Given the description of an element on the screen output the (x, y) to click on. 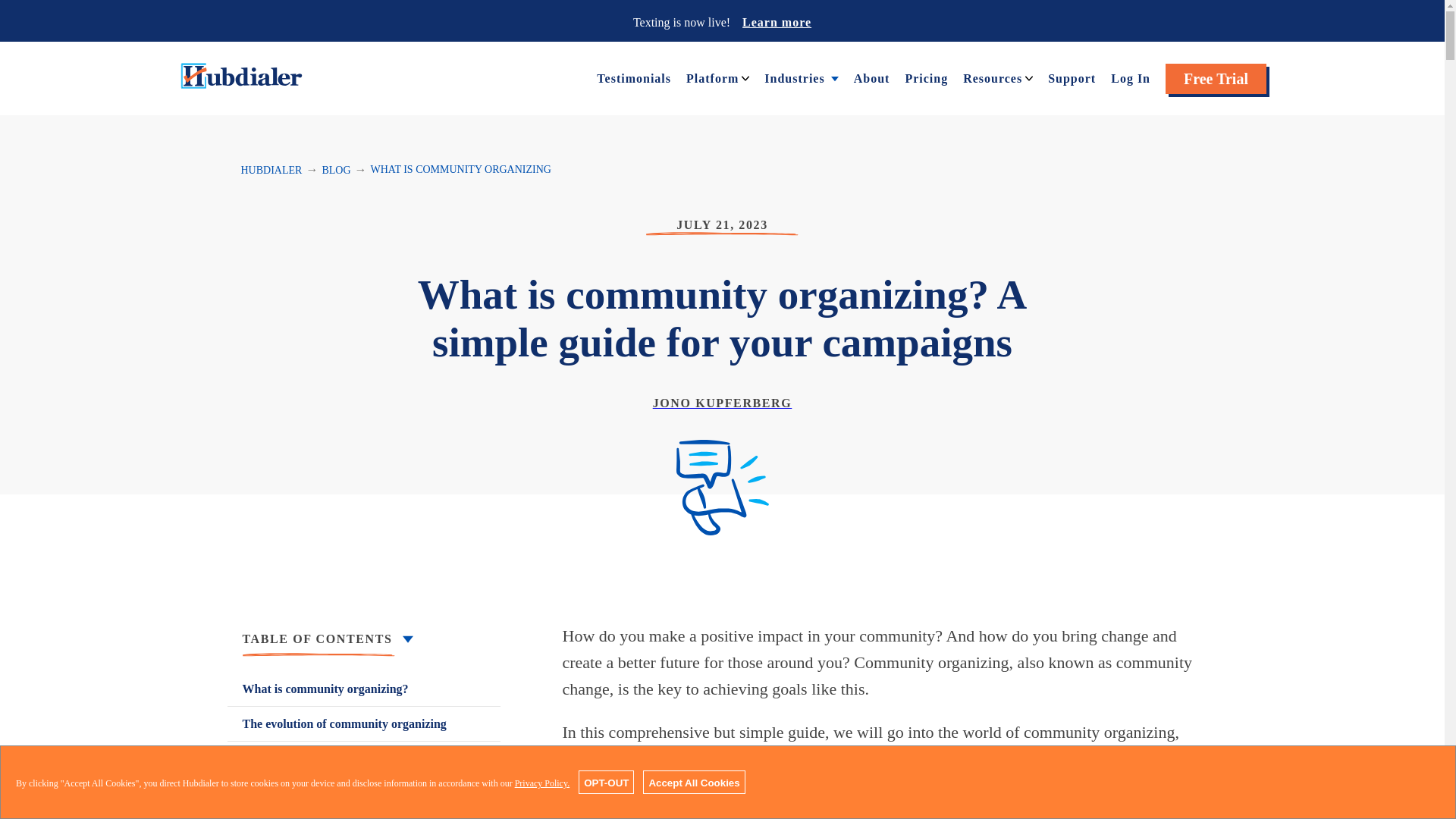
Pricing (925, 77)
What are the other steps in successful community organizing? (363, 807)
What is community organizing? (363, 688)
What is the first step in community organizing? (363, 768)
Learn more (776, 21)
WHAT IS COMMUNITY ORGANIZING (461, 169)
Log In (1130, 77)
HUBDIALER (271, 170)
Resources (992, 77)
Platform (711, 77)
OPT-OUT (605, 781)
BLOG (335, 170)
The evolution of community organizing (363, 723)
Free Trial (1216, 78)
